Given the description of an element on the screen output the (x, y) to click on. 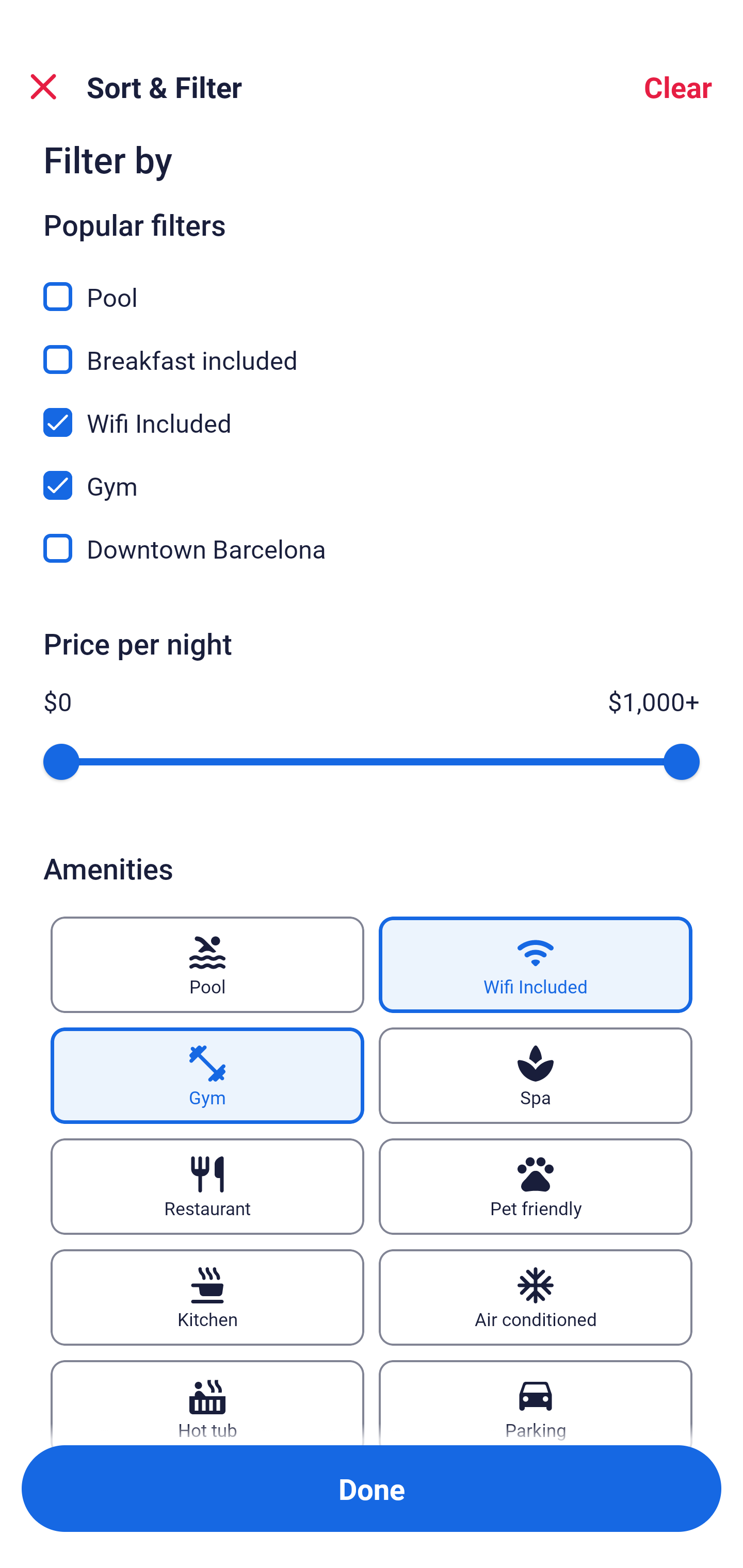
Close Sort and Filter (43, 86)
Clear (677, 86)
Pool, Pool (371, 285)
Breakfast included, Breakfast included (371, 347)
Wifi Included, Wifi Included (371, 410)
Gym, Gym (371, 473)
Downtown Barcelona, Downtown Barcelona (371, 548)
Pool (207, 964)
Wifi Included (535, 964)
Gym (207, 1075)
Spa (535, 1075)
Restaurant (207, 1186)
Pet friendly (535, 1186)
Kitchen (207, 1297)
Air conditioned (535, 1297)
Hot tub (207, 1402)
Parking (535, 1402)
Apply and close Sort and Filter Done (371, 1488)
